Given the description of an element on the screen output the (x, y) to click on. 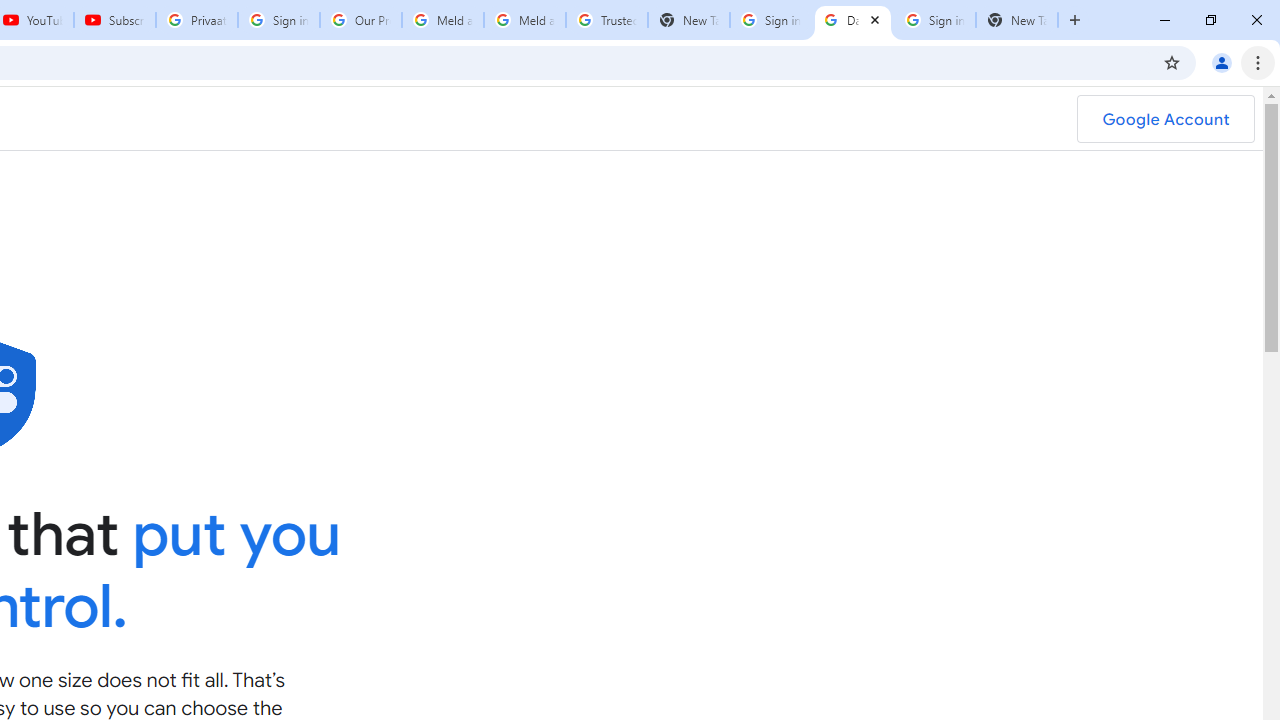
Sign in - Google Accounts (278, 20)
Subscriptions - YouTube (115, 20)
